Given the description of an element on the screen output the (x, y) to click on. 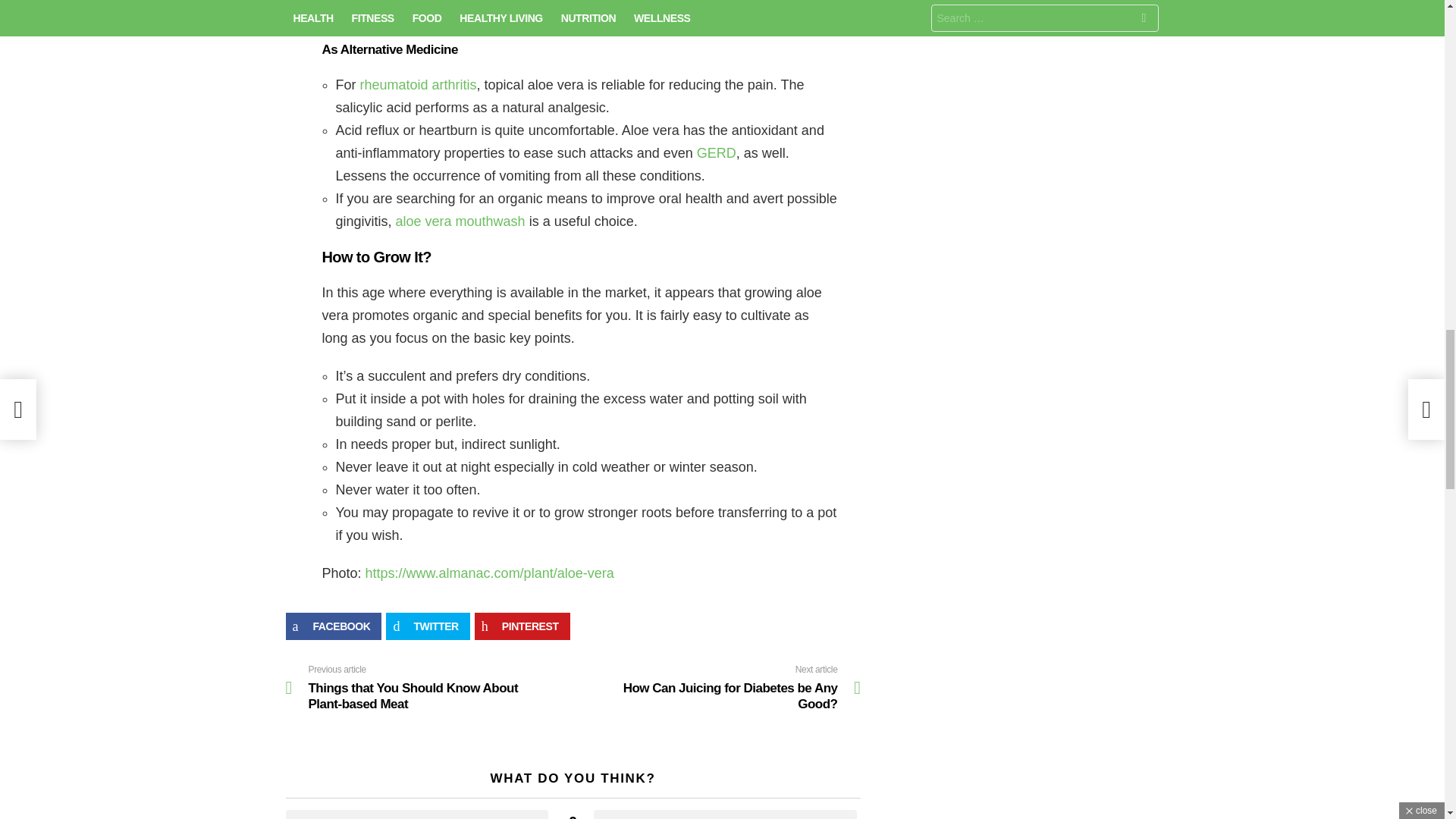
FACEBOOK (333, 625)
Share on Twitter (426, 625)
Share on Facebook (333, 625)
Downvote (725, 814)
Upvote (416, 814)
Upvote (416, 814)
PINTEREST (522, 625)
Share on Pinterest (522, 625)
aloe vera mouthwash (462, 221)
GERD (716, 152)
Downvote (725, 814)
rheumatoid arthritis (418, 84)
TWITTER (716, 687)
